Given the description of an element on the screen output the (x, y) to click on. 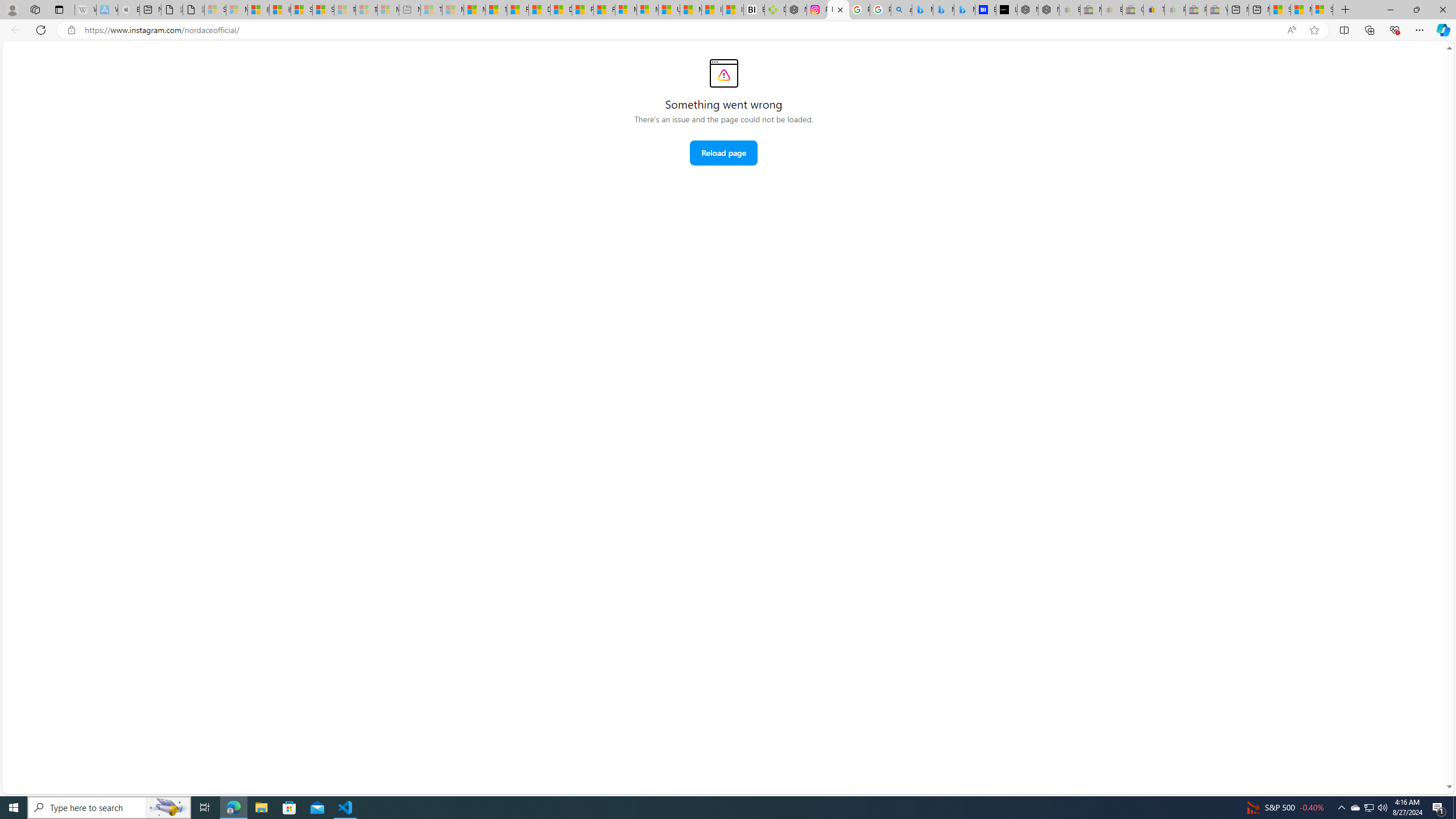
Food and Drink - MSN (517, 9)
Top Stories - MSN - Sleeping (431, 9)
Shanghai, China hourly forecast | Microsoft Weather (1280, 9)
Yard, Garden & Outdoor Living - Sleeping (1216, 9)
Foo BAR | Trusted Community Engagement and Contributions (604, 9)
Error (723, 72)
